Given the description of an element on the screen output the (x, y) to click on. 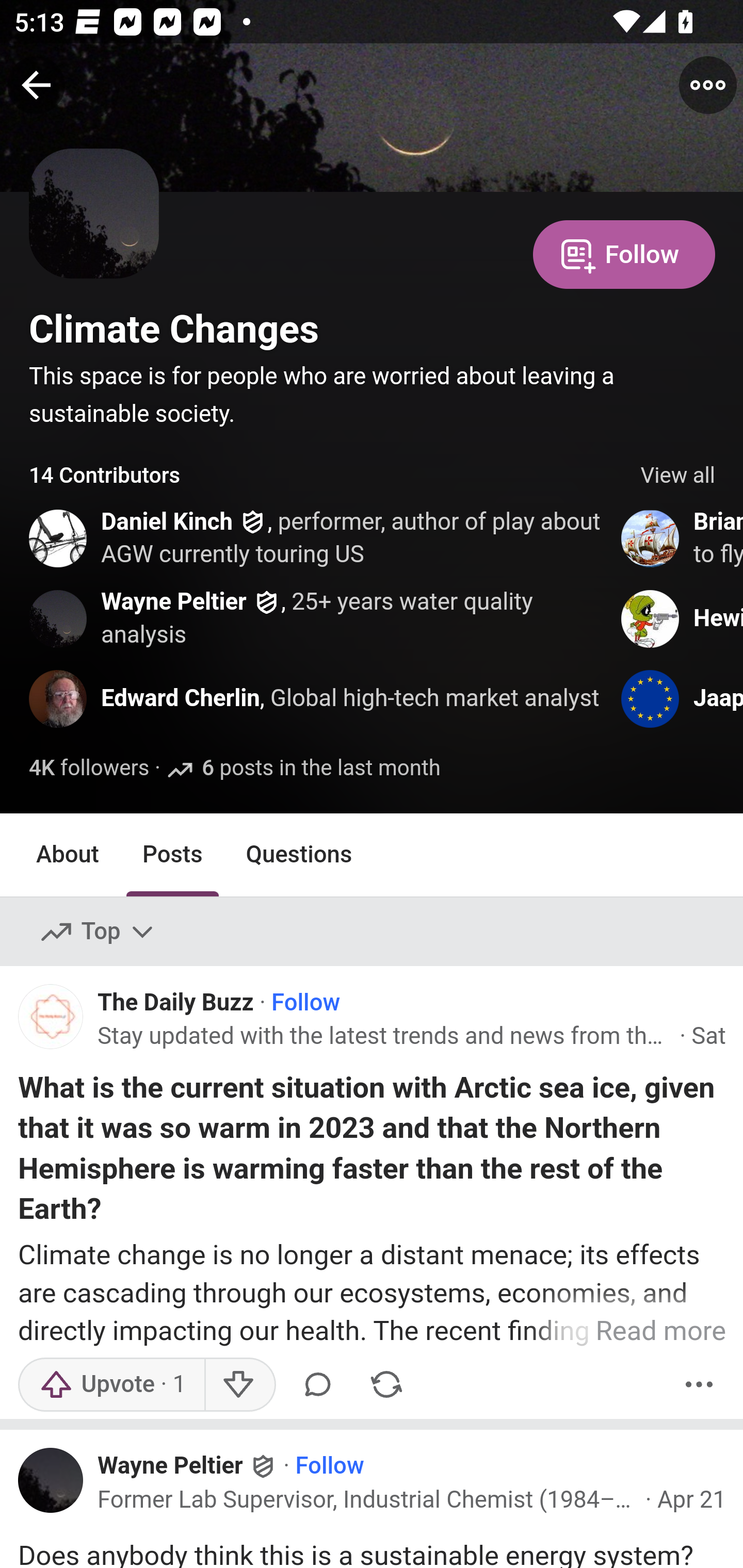
Follow (623, 252)
Climate Changes (173, 329)
View all (677, 475)
Daniel Kinch (167, 521)
Profile photo for Daniel Kinch (58, 538)
Profile photo for Brian Hval (650, 538)
Wayne Peltier (174, 601)
Profile photo for Wayne Peltier (58, 617)
Profile photo for Hewitt Rose (650, 617)
Profile photo for Edward Cherlin (58, 699)
Profile photo for Jaap Folmer (650, 699)
Edward Cherlin (180, 699)
4K followers (88, 768)
About (68, 854)
Posts (171, 854)
Questions (299, 854)
Top (97, 931)
Profile photo for The Daily Buzz (50, 1016)
The Daily Buzz (175, 1002)
Follow (306, 1002)
Sat (708, 1036)
Upvote (111, 1383)
Downvote (238, 1383)
Comment (317, 1383)
Share (386, 1383)
More (699, 1383)
Profile photo for Wayne Peltier (57, 1484)
Profile photo for Wayne Peltier (50, 1479)
Wayne Peltier Wayne Peltier   (187, 1465)
Wayne Peltier (170, 1465)
Follow (329, 1465)
Apr 21 (691, 1499)
